Given the description of an element on the screen output the (x, y) to click on. 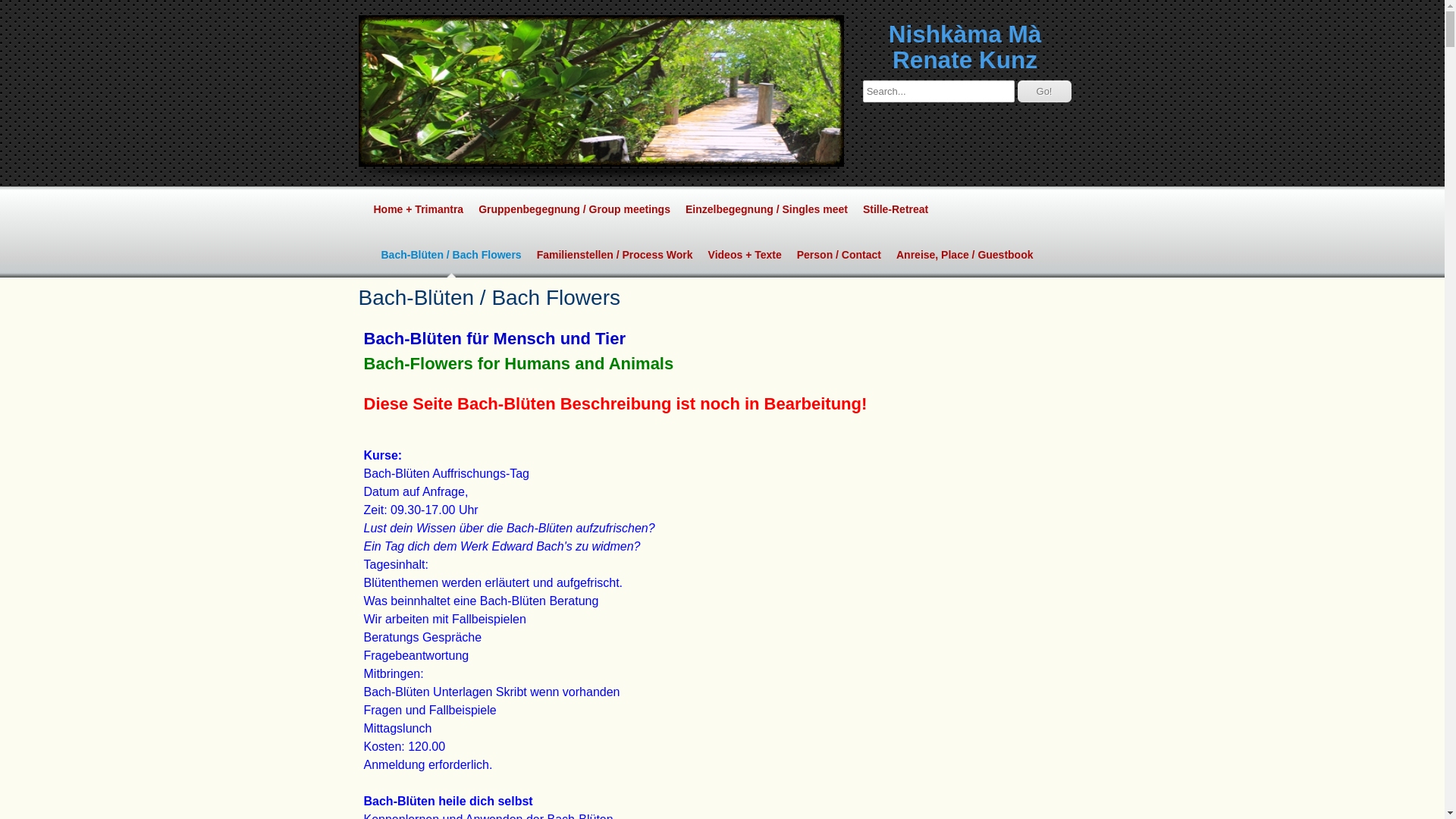
Anreise, Place / Guestbook Element type: text (964, 254)
Einzelbegegnung / Singles meet Element type: text (766, 209)
Familienstellen / Process Work Element type: text (614, 254)
Videos + Texte Element type: text (744, 254)
Gruppenbegegnung / Group meetings Element type: text (574, 209)
Stille-Retreat Element type: text (895, 209)
Go! Element type: text (1044, 91)
Person / Contact Element type: text (839, 254)
Home + Trimantra Element type: text (418, 209)
